Given the description of an element on the screen output the (x, y) to click on. 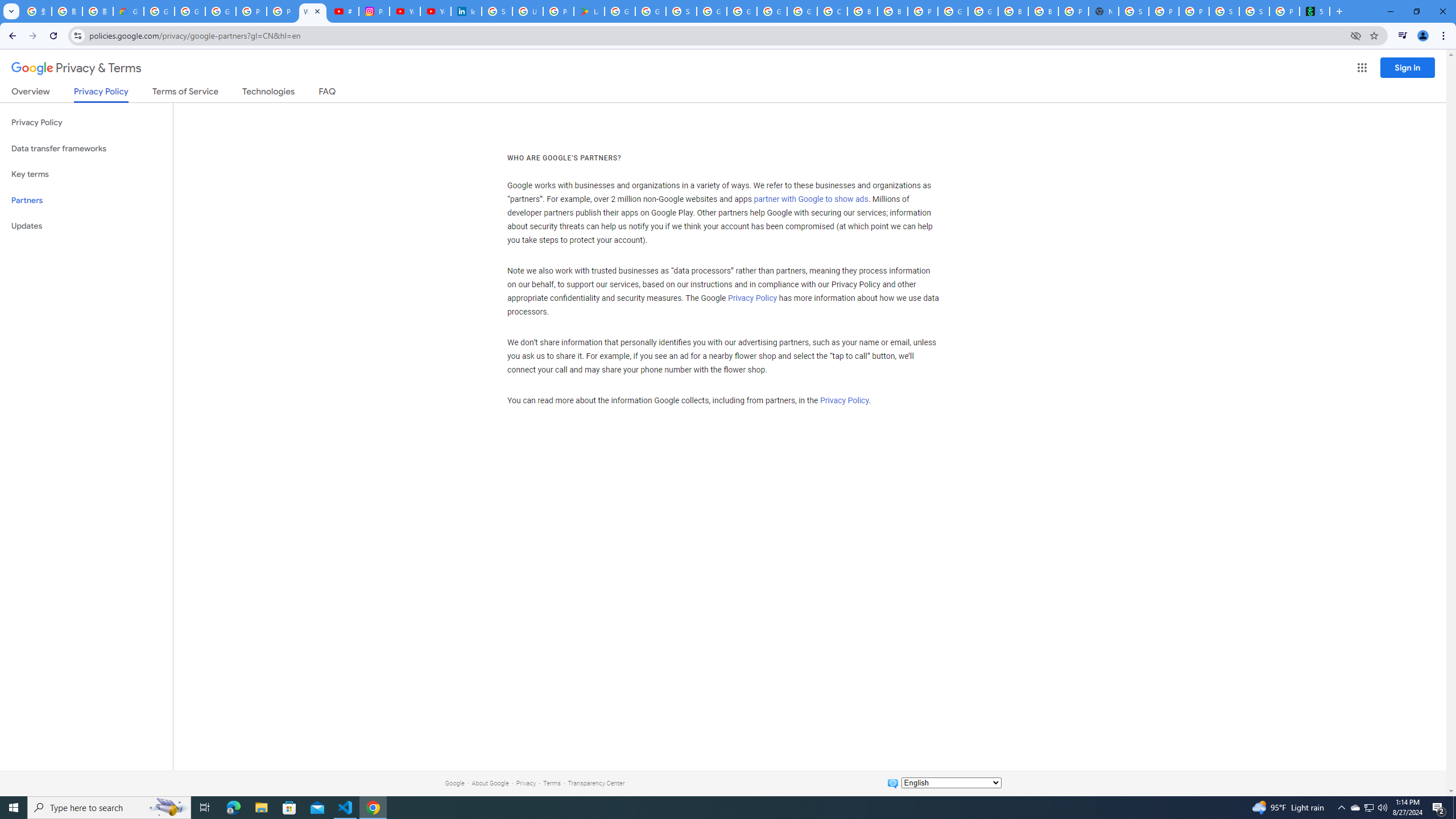
Sign in - Google Accounts (681, 11)
